Given the description of an element on the screen output the (x, y) to click on. 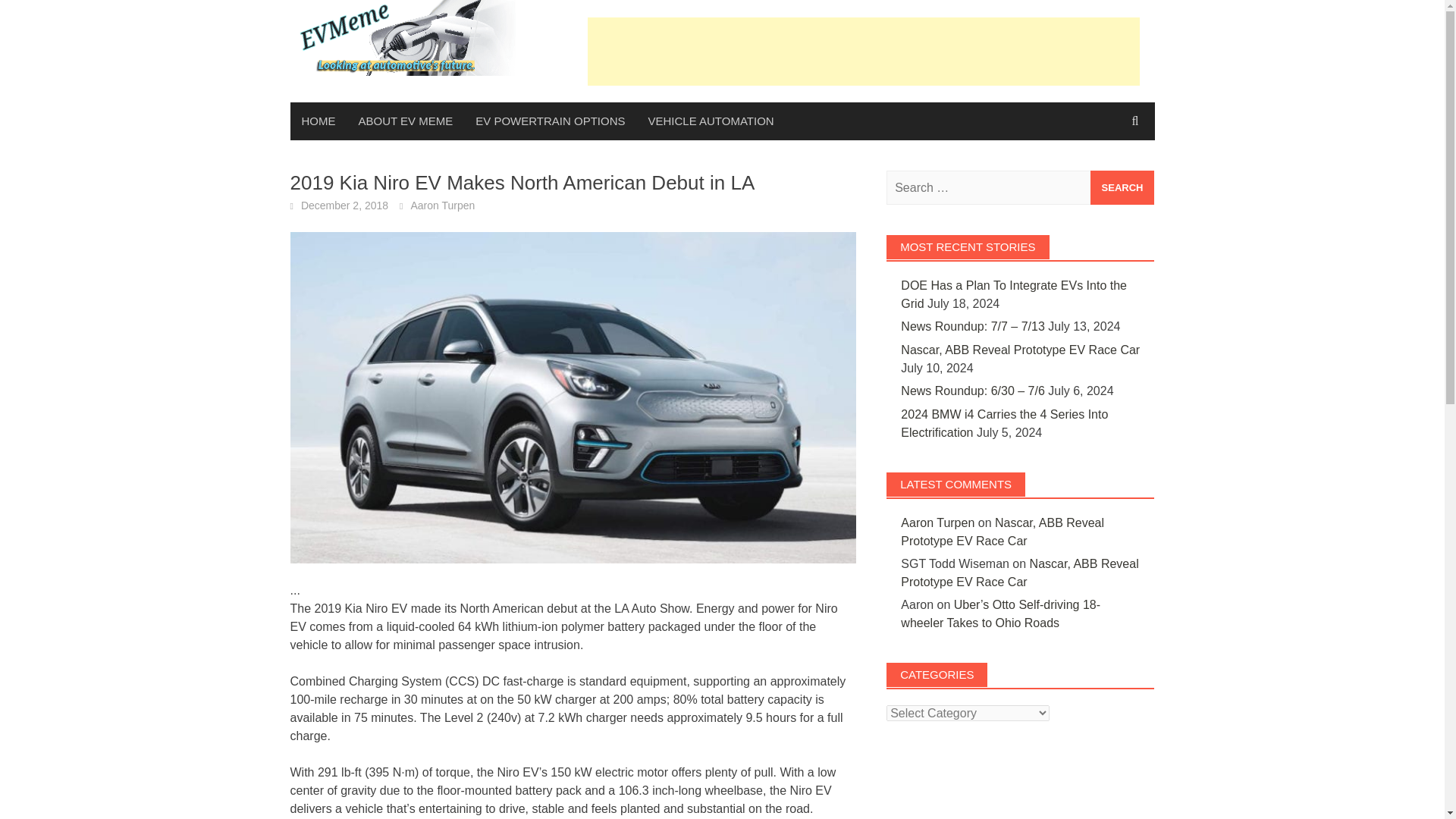
December 2, 2018 (344, 205)
Search (1122, 187)
EV POWERTRAIN OPTIONS (550, 121)
Aaron Turpen (442, 205)
ABOUT EV MEME (405, 121)
VEHICLE AUTOMATION (711, 121)
Nascar, ABB Reveal Prototype EV Race Car (1002, 531)
Nascar, ABB Reveal Prototype EV Race Car (1019, 572)
2024 BMW i4 Carries the 4 Series Into Electrification (1004, 422)
Search (1122, 187)
Aaron Turpen (937, 522)
HOME (317, 121)
DOE Has a Plan To Integrate EVs Into the Grid (1013, 294)
Advertisement (862, 50)
Nascar, ABB Reveal Prototype EV Race Car (1020, 349)
